Given the description of an element on the screen output the (x, y) to click on. 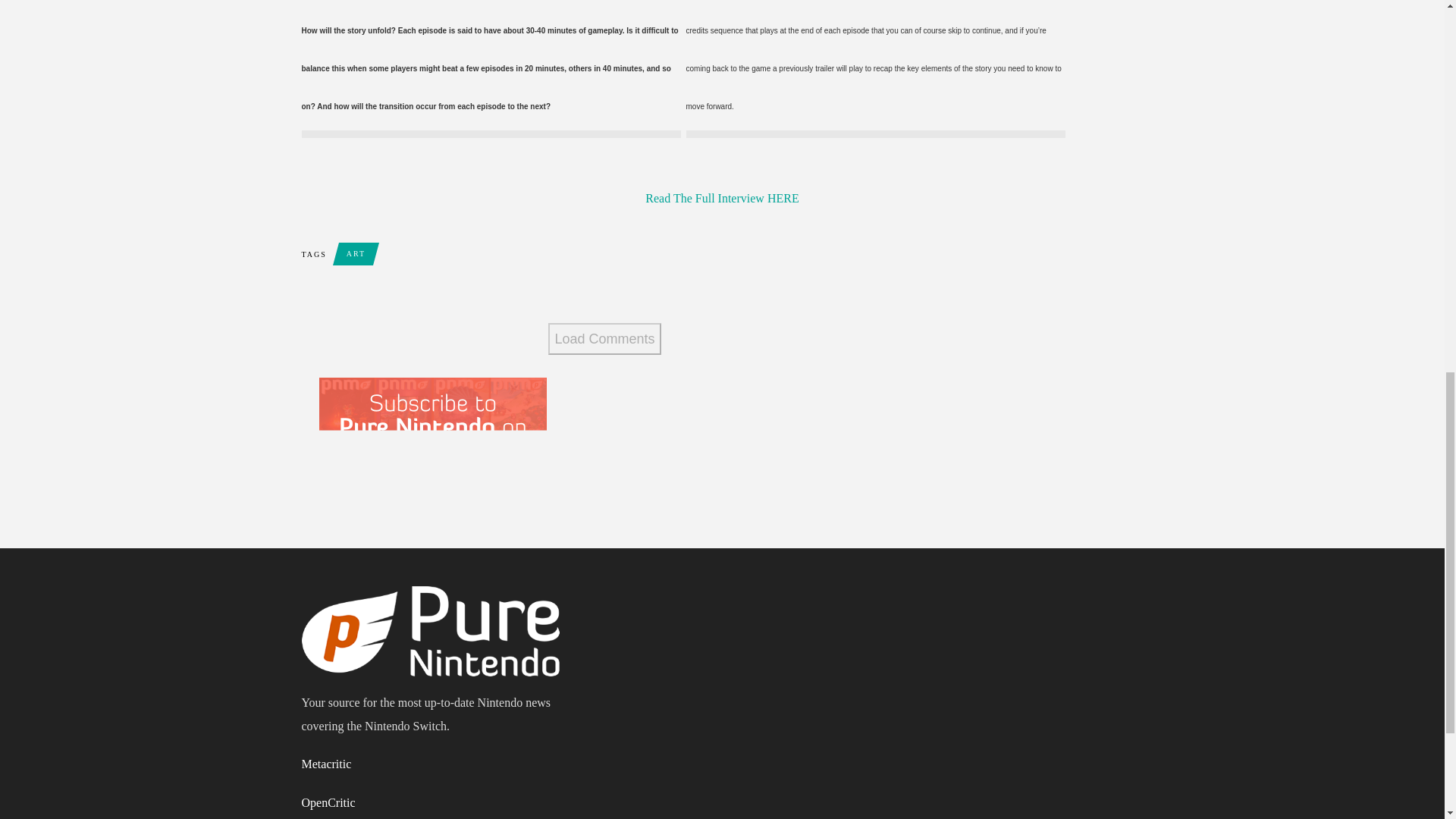
OpenCritic (328, 802)
Metacritic (326, 763)
Pure Nintendo Patreon (432, 442)
Load Comments (604, 338)
ART (355, 253)
Read The Full Interview HERE (721, 197)
